Given the description of an element on the screen output the (x, y) to click on. 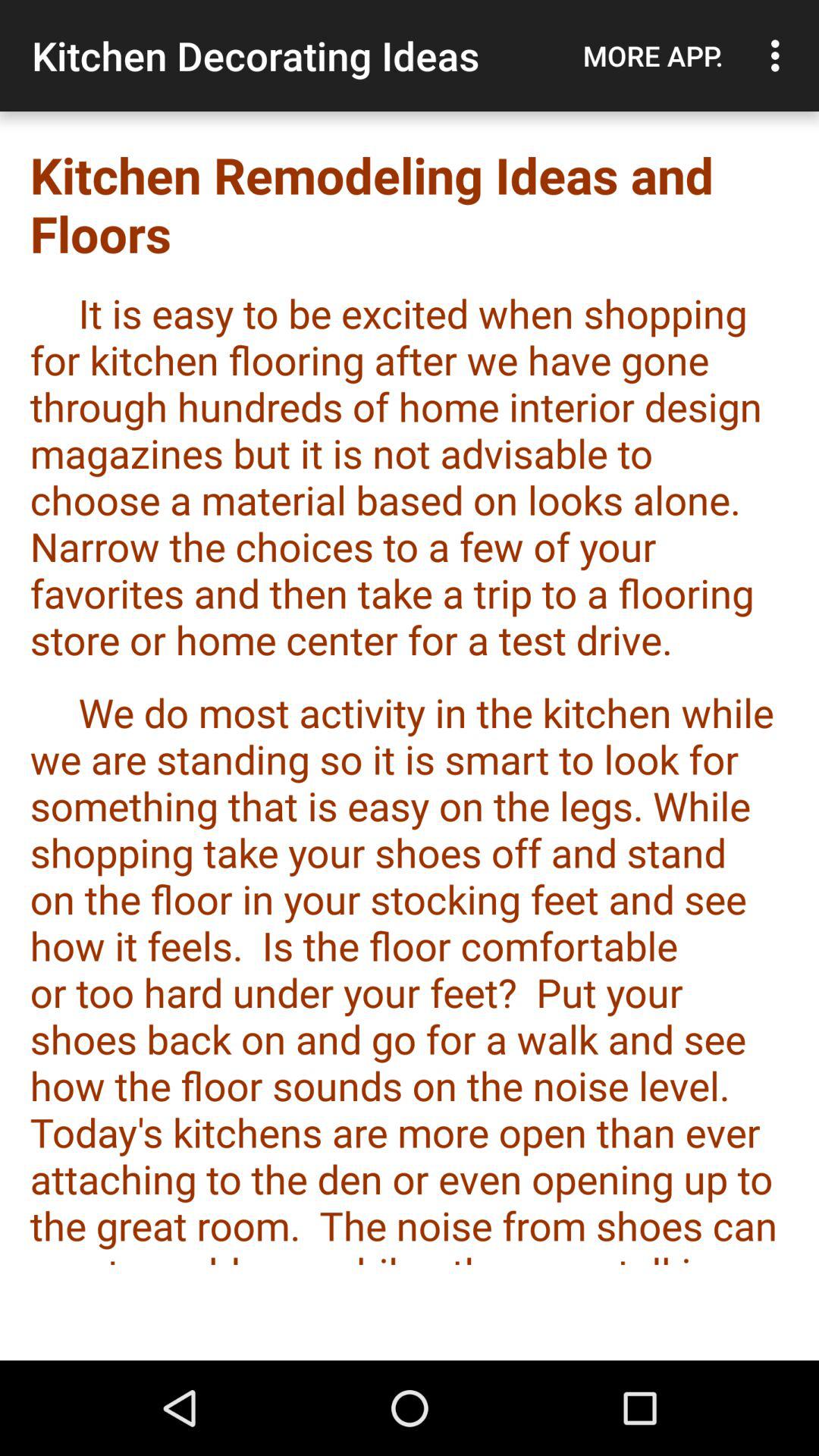
turn off the icon next to kitchen decorating ideas icon (653, 55)
